Given the description of an element on the screen output the (x, y) to click on. 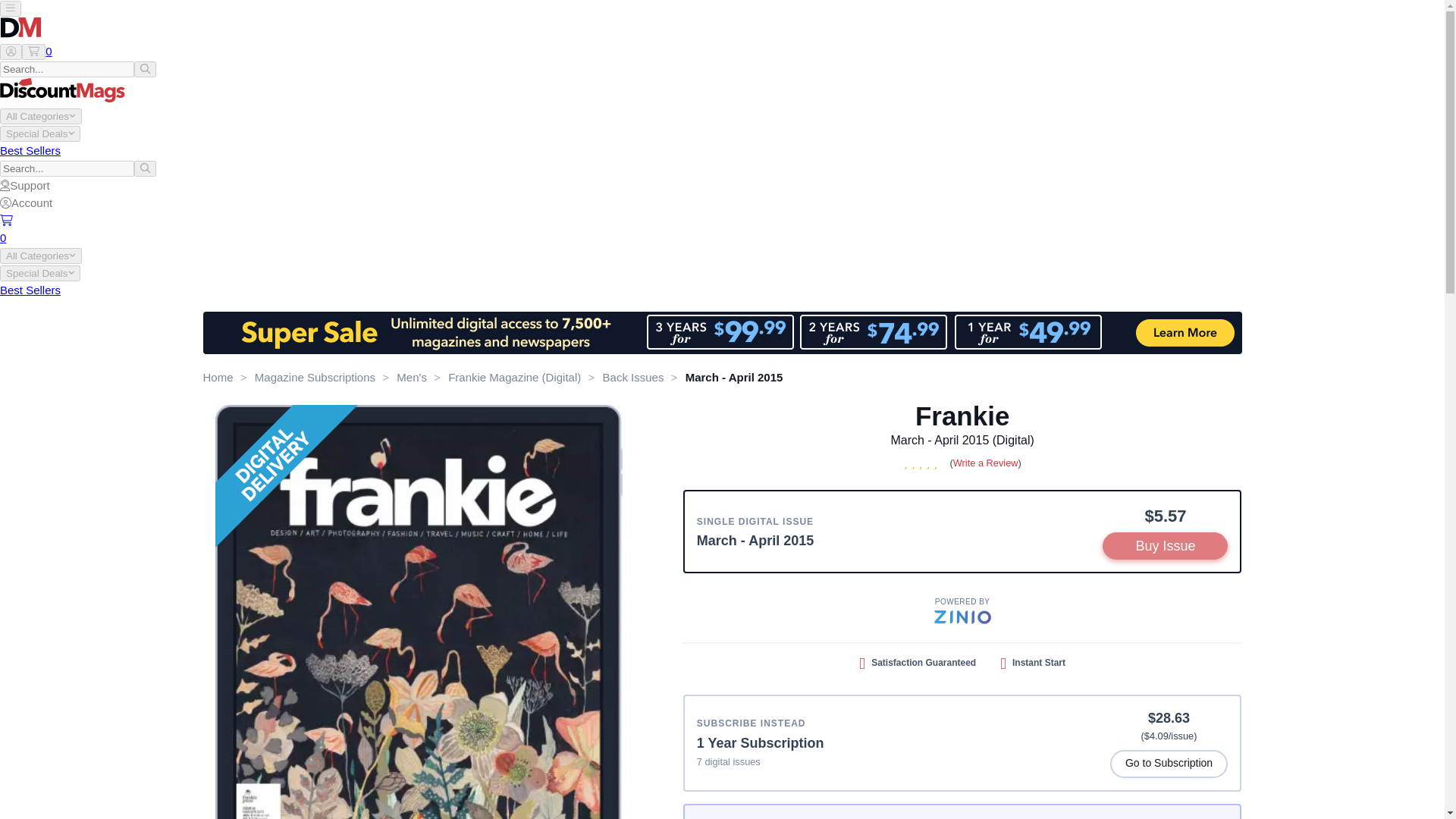
Back Issues (632, 377)
Magazine Subscriptions (314, 377)
Go to Subscription (1168, 764)
Home (217, 377)
Men's (411, 377)
Write a Review (985, 462)
Buy Issue (1164, 545)
